Given the description of an element on the screen output the (x, y) to click on. 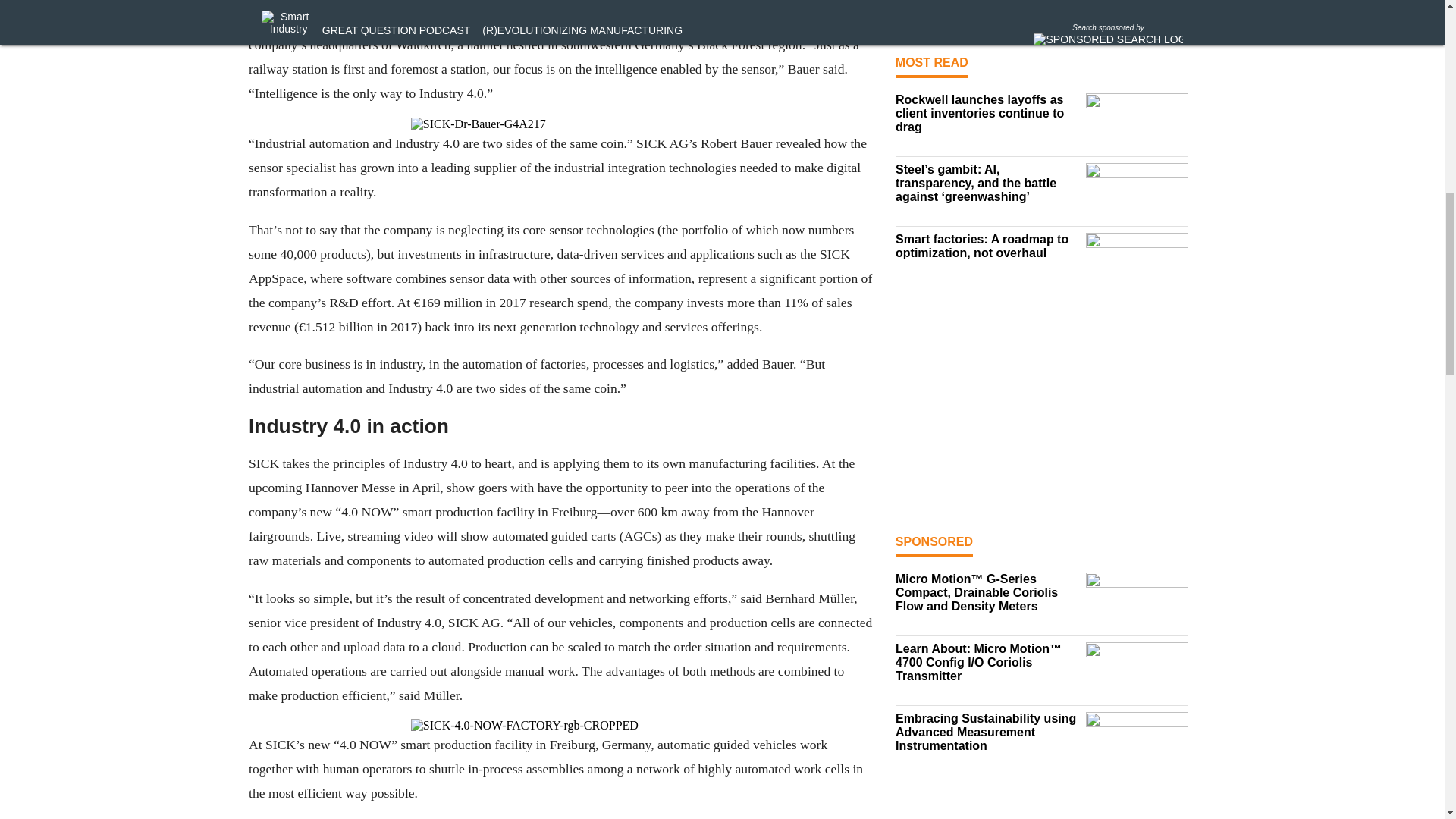
SICK-Dr-Bauer-G4A217 (560, 124)
Heppelmann retiring this month as CEO of PTC (986, 9)
SICK-4.0-NOW-FACTORY-rgb-CROPPED (560, 725)
